Given the description of an element on the screen output the (x, y) to click on. 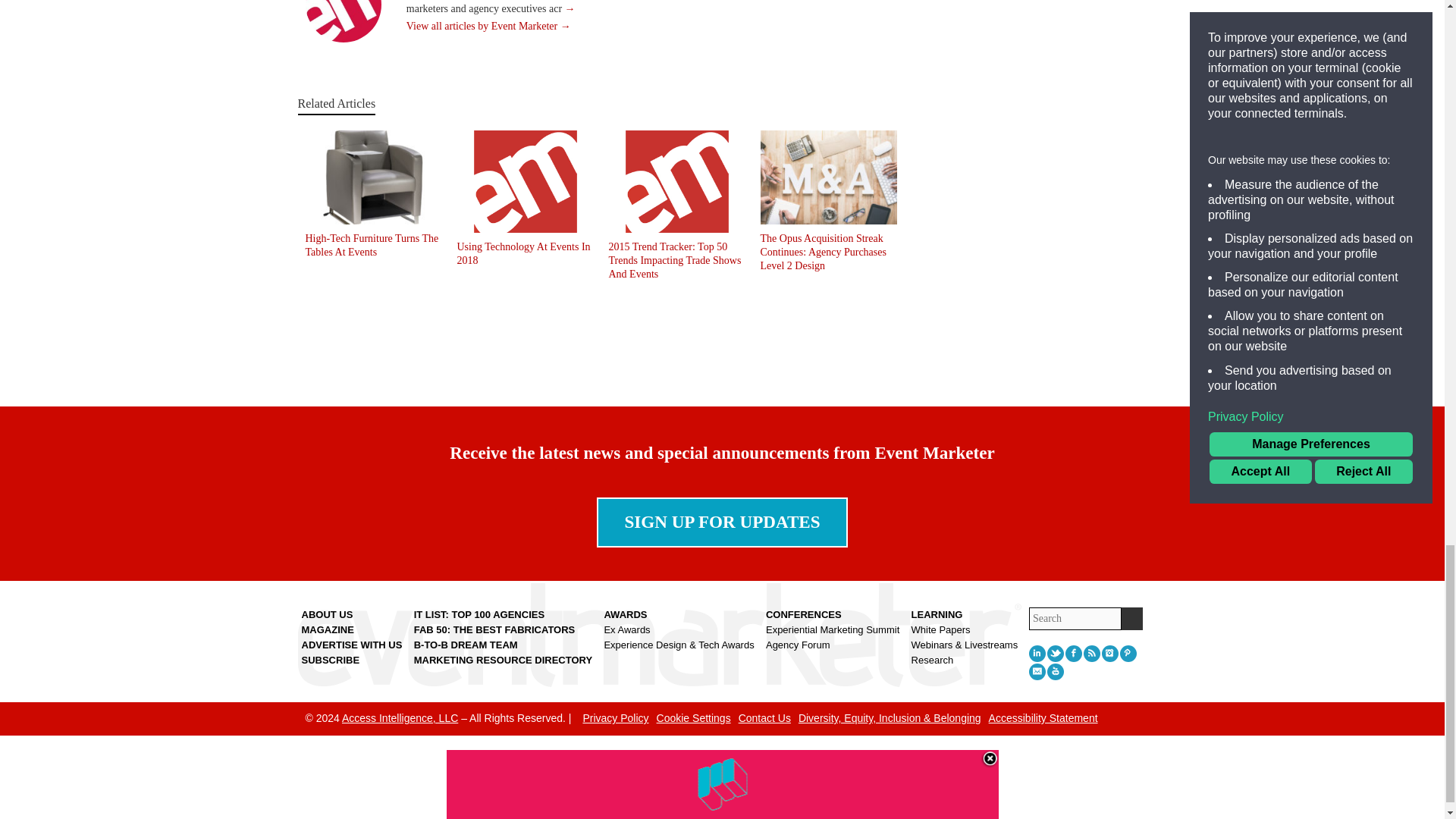
Permanent Link to Using Technology at Events in 2018 (523, 253)
